Given the description of an element on the screen output the (x, y) to click on. 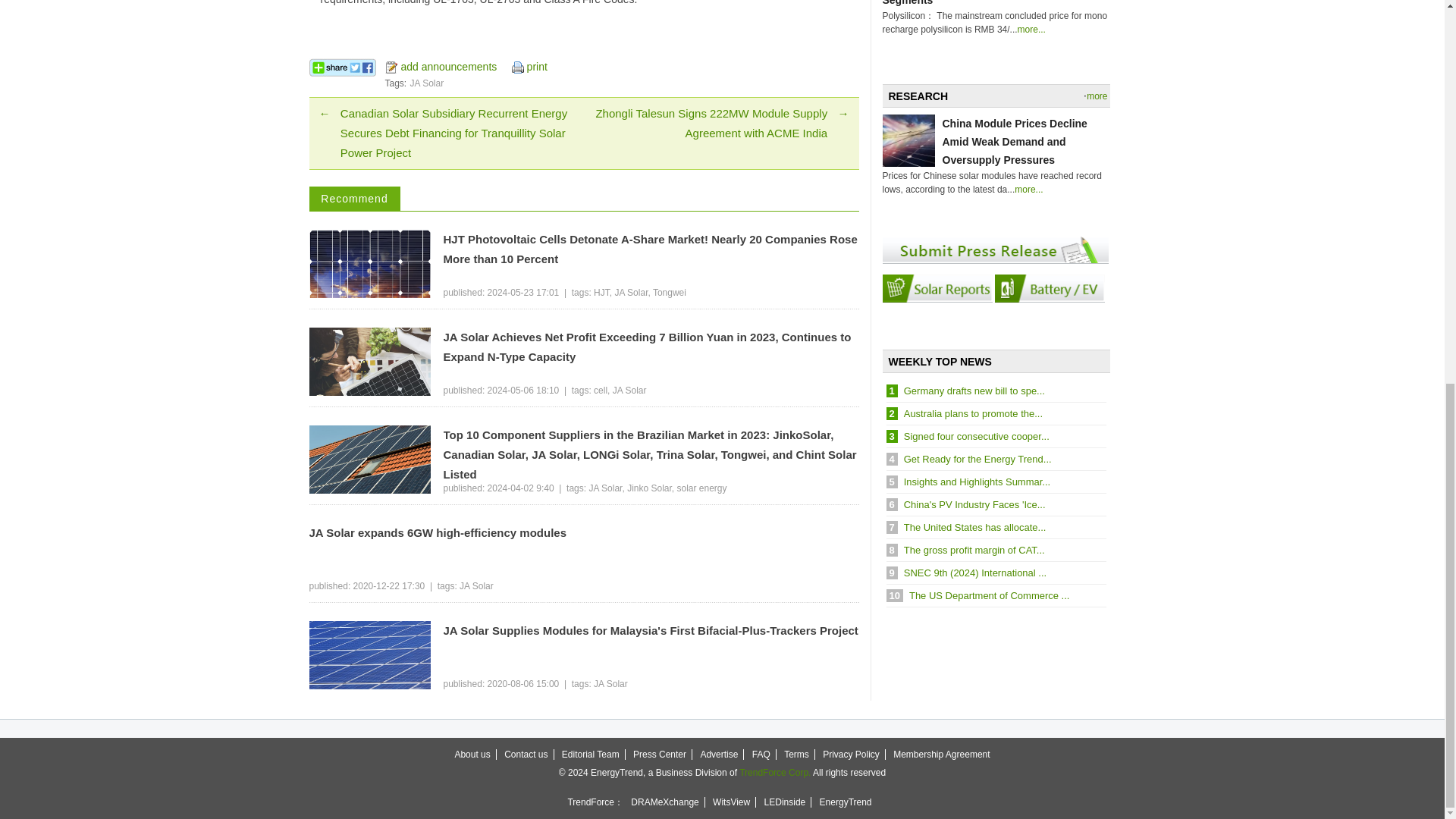
JA Solar expands 6GW high-efficiency modules (583, 532)
